Given the description of an element on the screen output the (x, y) to click on. 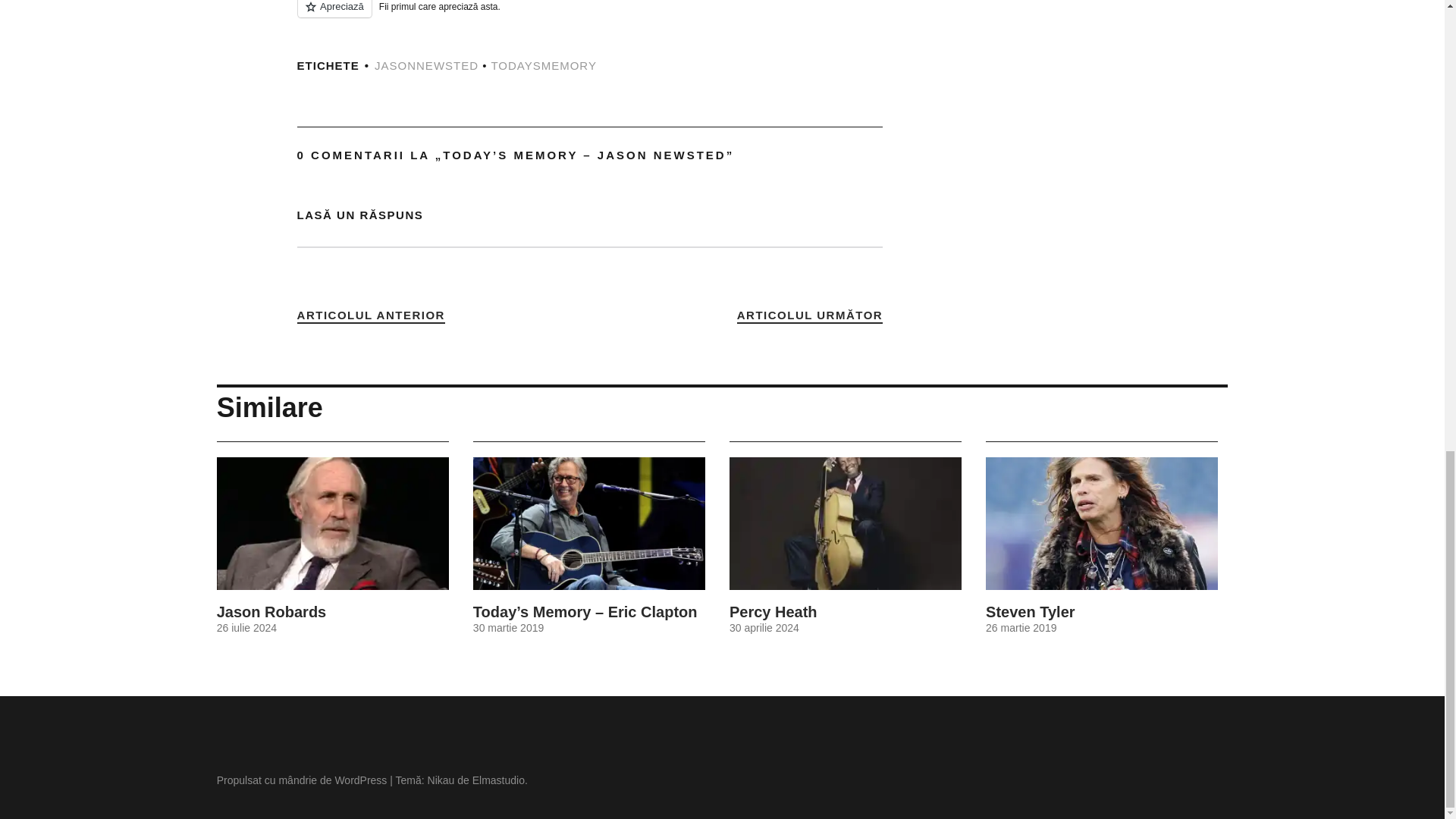
JASONNEWSTED (426, 65)
ARTICOLUL ANTERIOR (371, 315)
TODAYSMEMORY (543, 65)
